Given the description of an element on the screen output the (x, y) to click on. 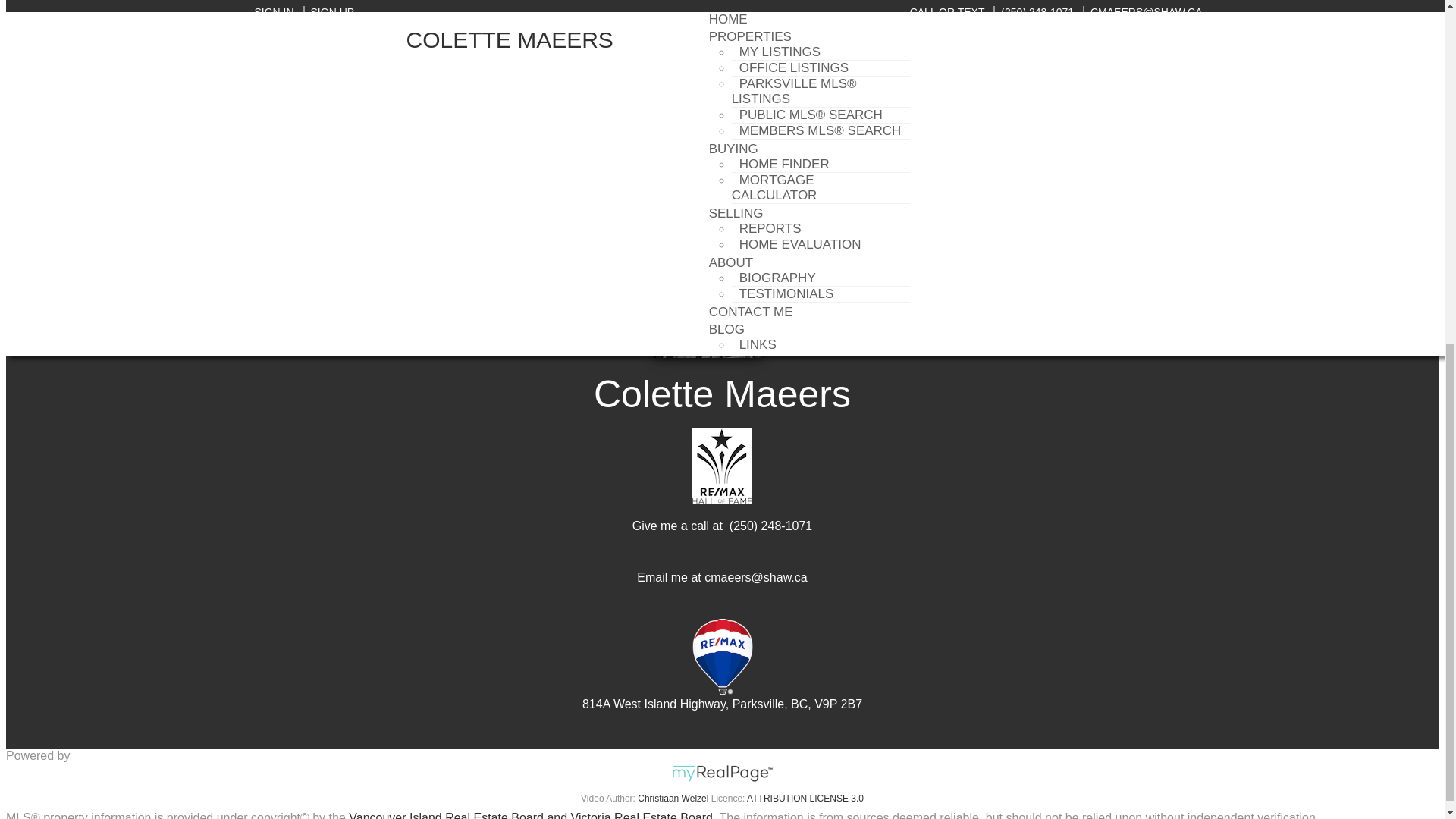
myRealPage.com (722, 772)
RSS (260, 57)
Christiaan Welzel (672, 798)
See details here (415, 246)
ATTRIBUTION LICENSE 3.0 (804, 798)
